Given the description of an element on the screen output the (x, y) to click on. 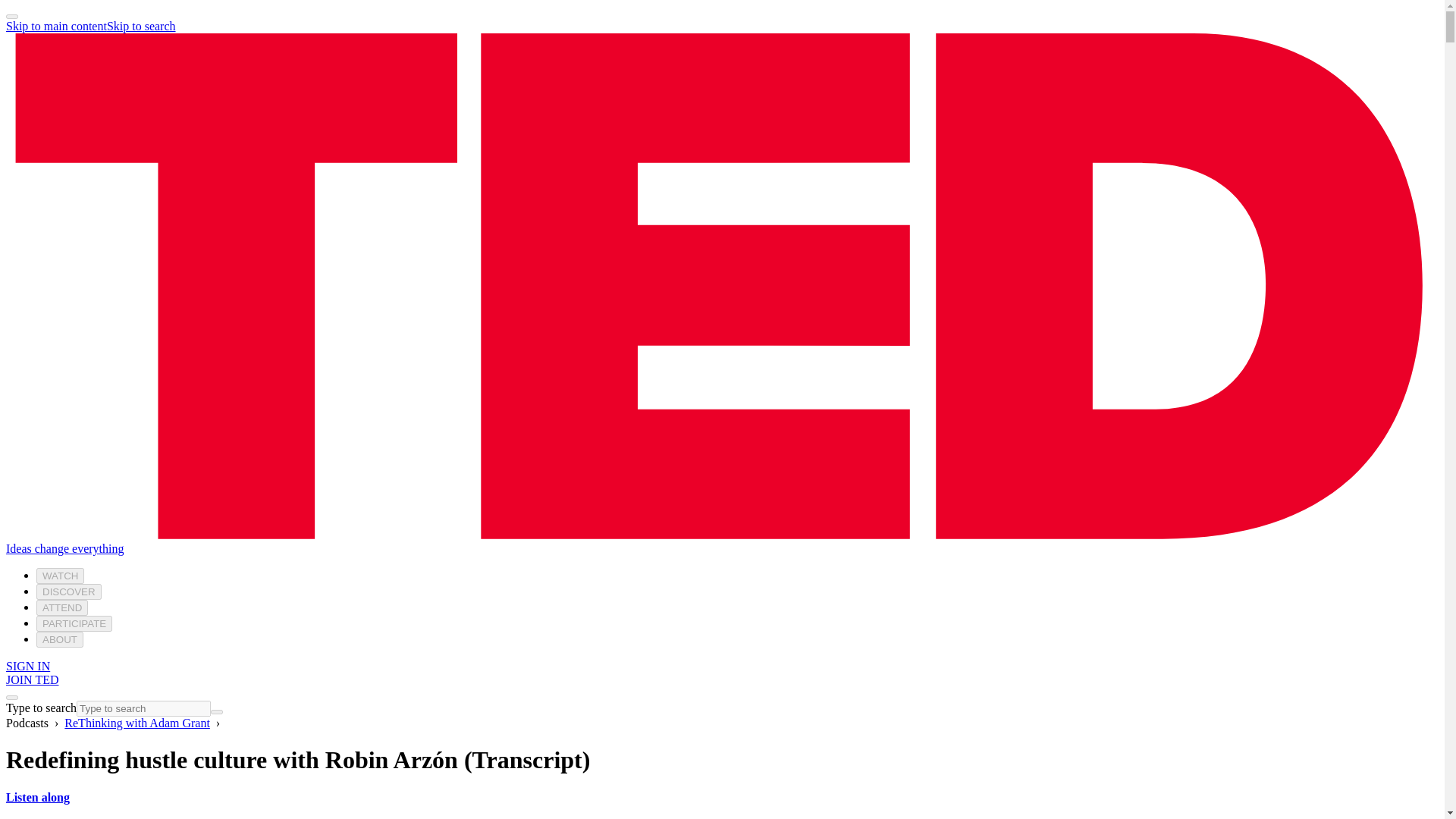
Skip to search (141, 25)
ATTEND (61, 607)
ABOUT (59, 639)
PARTICIPATE (74, 623)
ReThinking with Adam Grant (136, 722)
WATCH (60, 575)
DISCOVER (68, 591)
Skip to main content (55, 25)
